Given the description of an element on the screen output the (x, y) to click on. 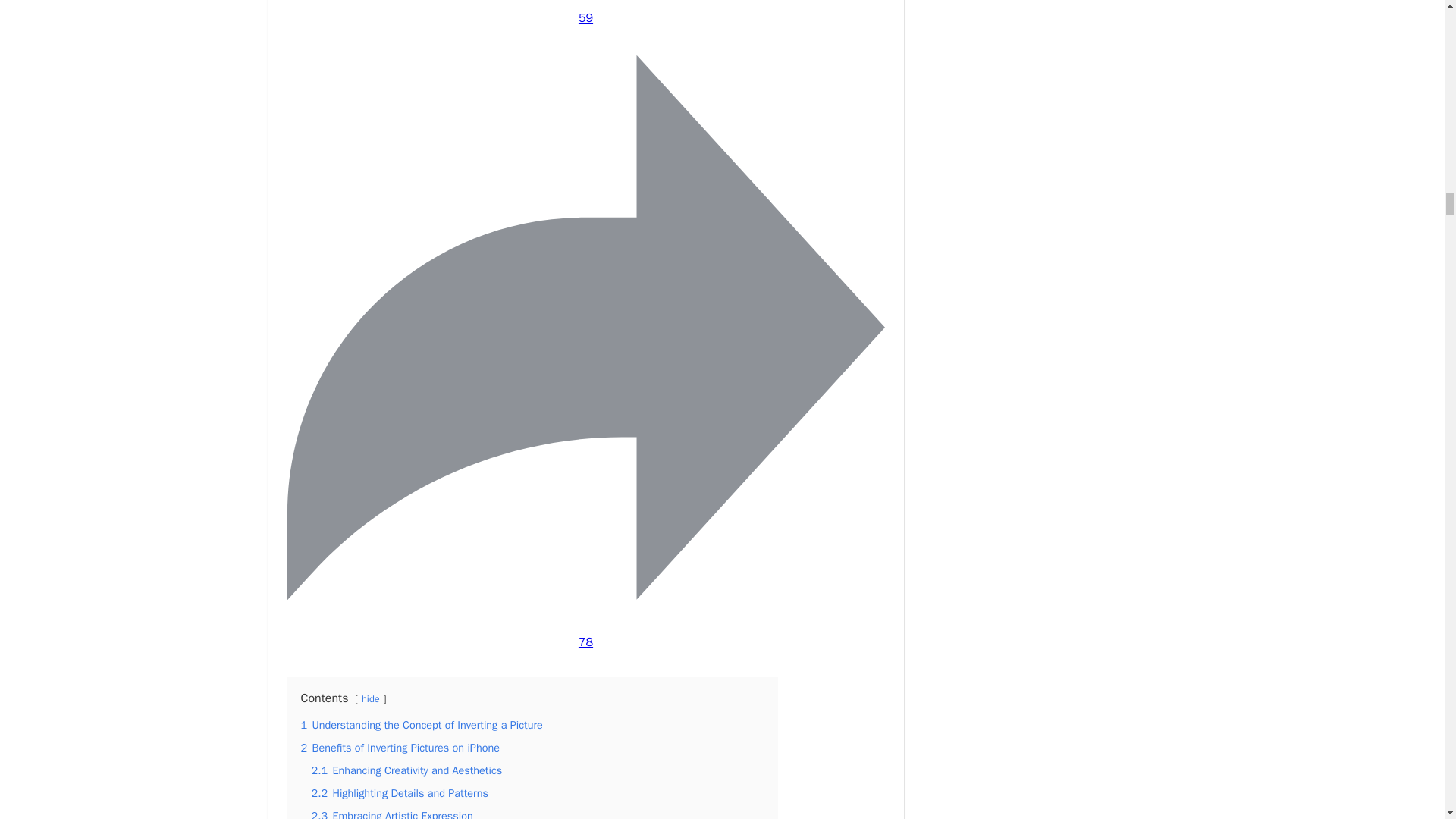
hide (370, 698)
1 Understanding the Concept of Inverting a Picture (420, 725)
2 Benefits of Inverting Pictures on iPhone (399, 747)
